Given the description of an element on the screen output the (x, y) to click on. 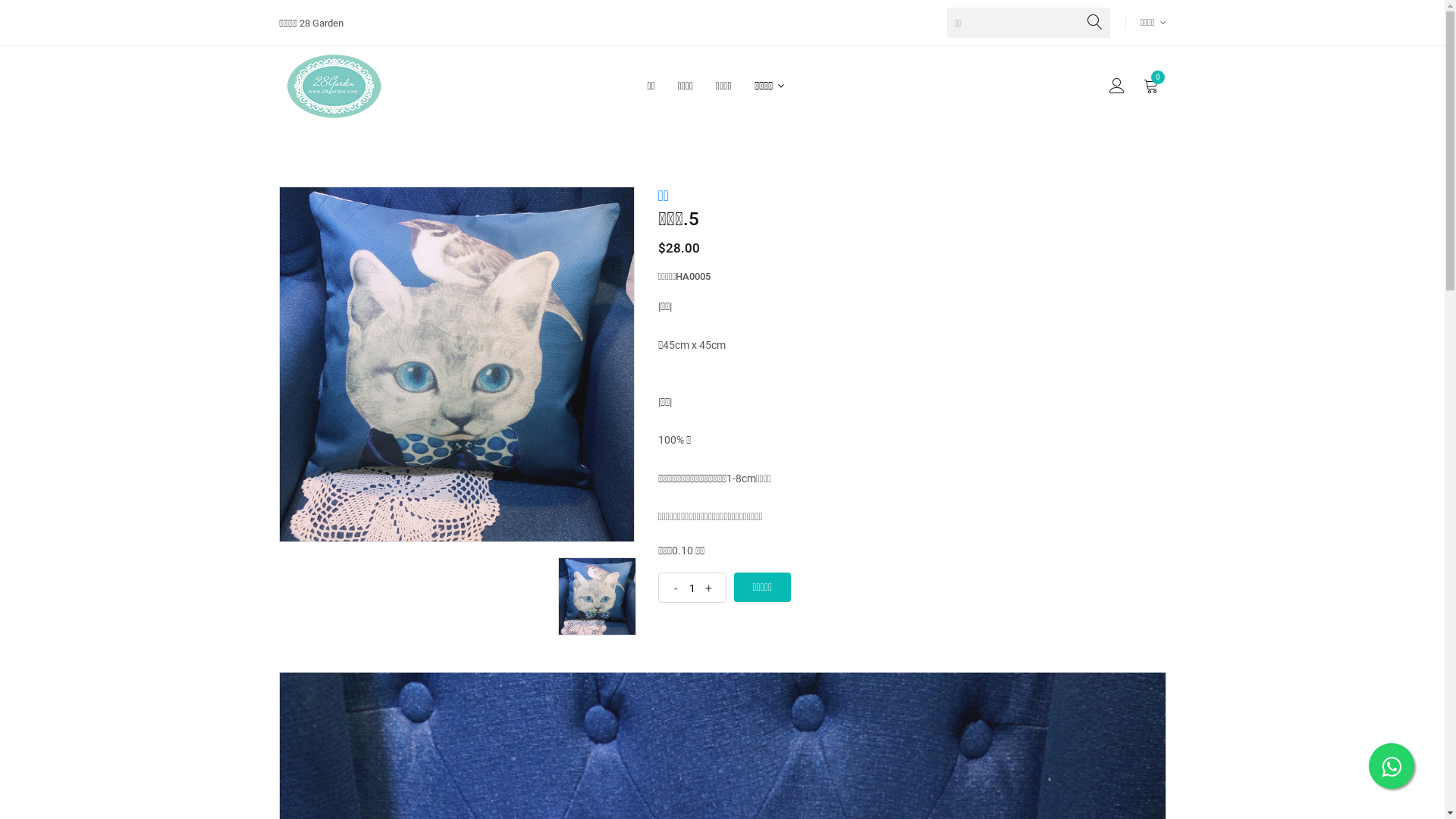
0 Element type: text (1150, 87)
